Given the description of an element on the screen output the (x, y) to click on. 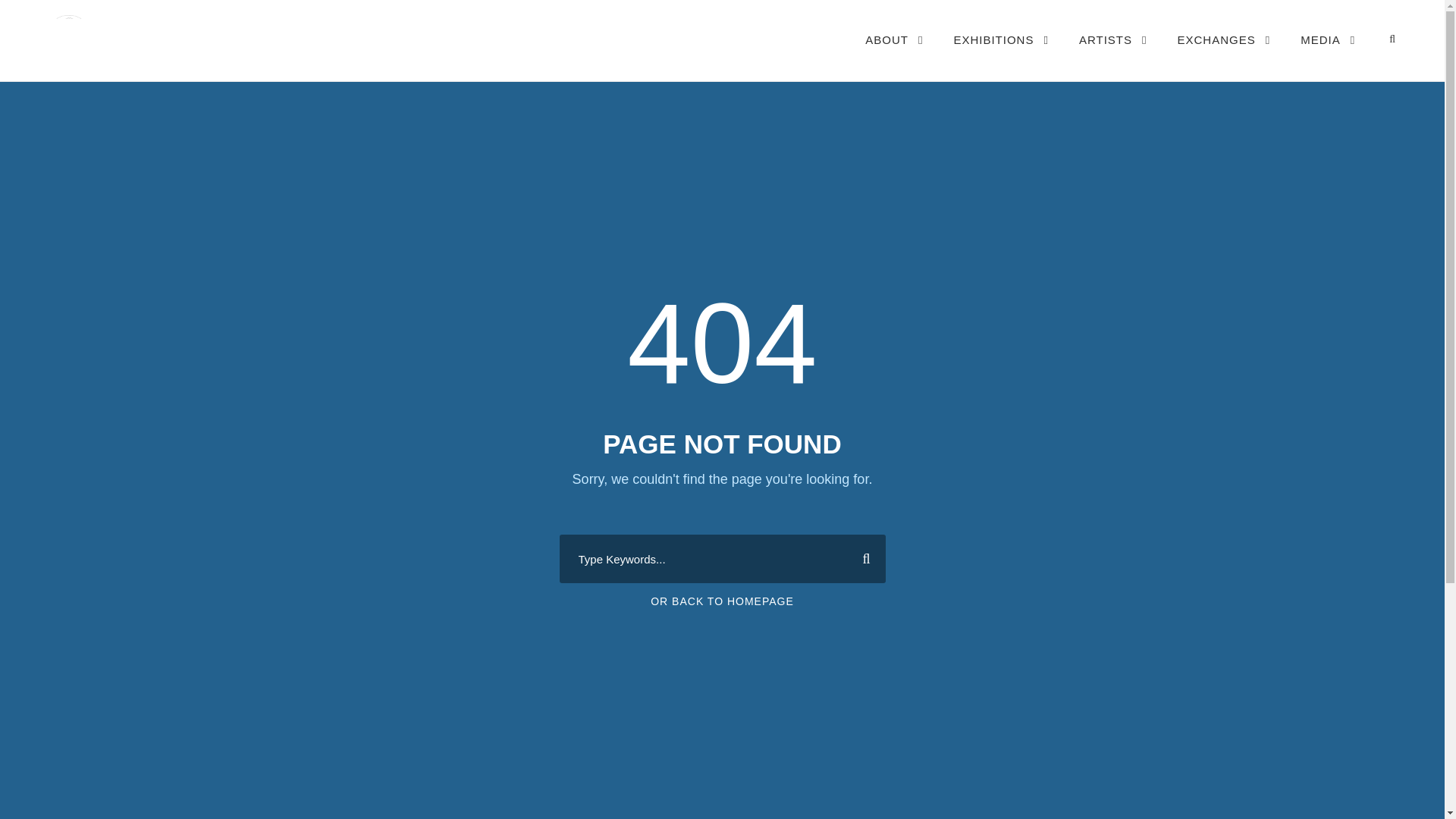
aie logo3 (188, 38)
Search (860, 558)
MEDIA (1327, 55)
ABOUT (893, 55)
ARTISTS (1112, 55)
EXHIBITIONS (1000, 55)
OR BACK TO HOMEPAGE (721, 601)
EXCHANGES (1224, 55)
